Given the description of an element on the screen output the (x, y) to click on. 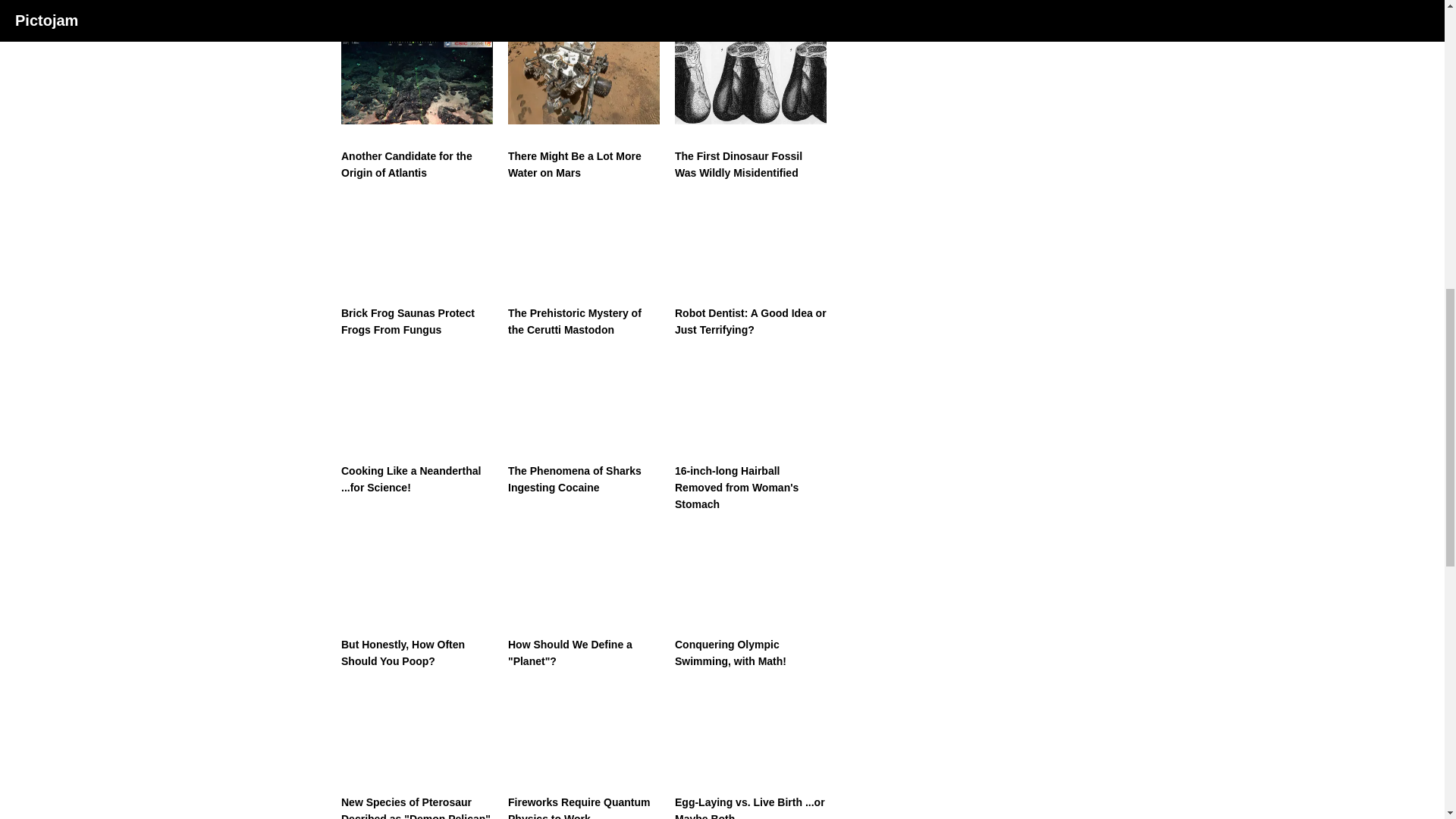
 New Species of Pterosaur Decribed as "Demon Pelican" (416, 751)
 The Phenomena of Sharks Ingesting Cocaine (583, 424)
 Robot Dentist: A Good Idea or Just Terrifying? (751, 267)
 How Should We Define a "Planet"? (583, 598)
 The First Dinosaur Fossil Was Wildly Misidentified (751, 109)
 Fireworks Require Quantum Physics to Work (583, 751)
 Egg-Laying vs. Live Birth ...or Maybe Both (751, 751)
 Cooking Like a Neanderthal ...for Science! (416, 424)
 Brick Frog Saunas Protect Frogs From Fungus (416, 267)
 16-inch-long Hairball Removed from Woman's Stomach (751, 432)
